Given the description of an element on the screen output the (x, y) to click on. 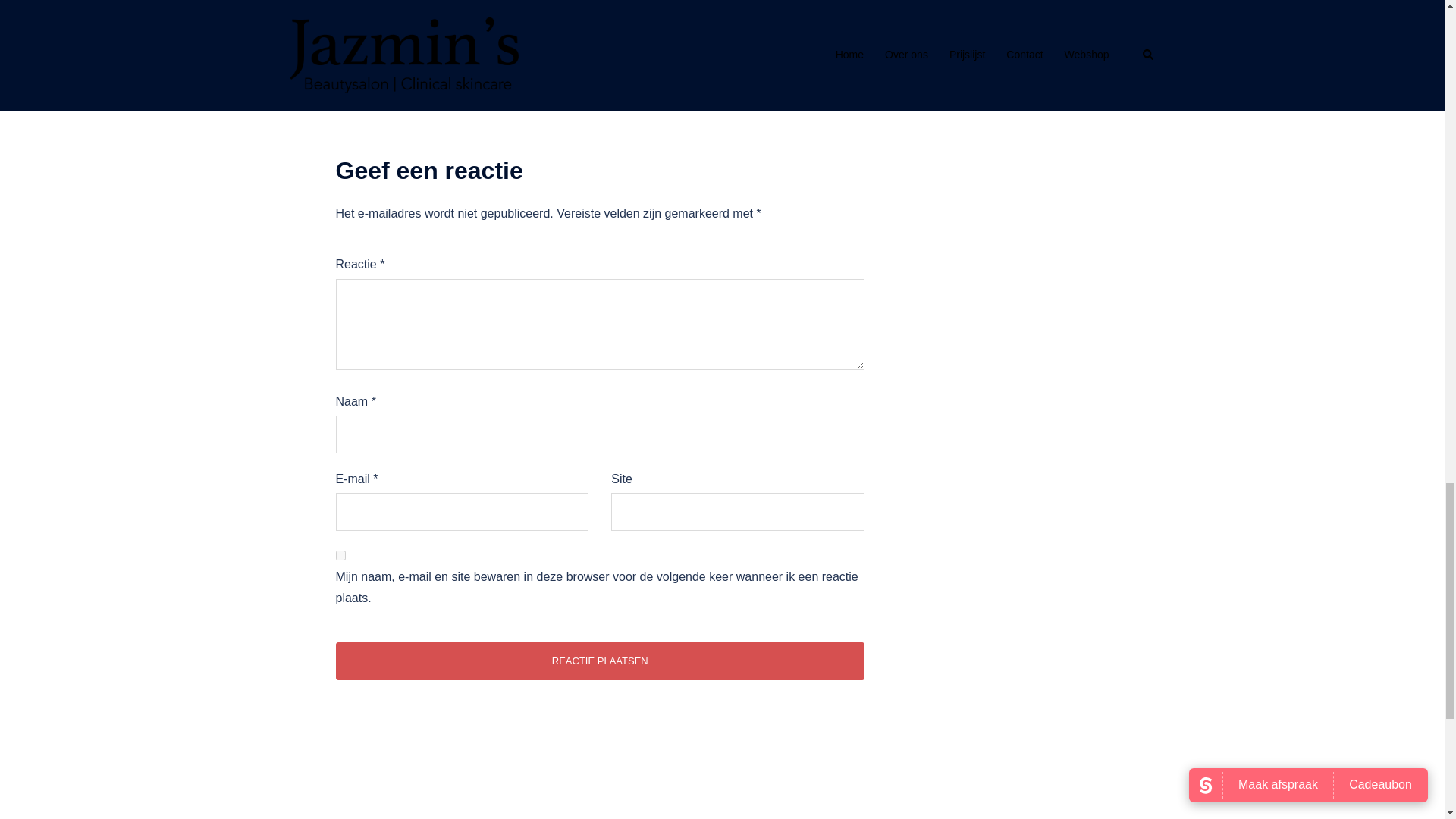
The way to get regarding Cash advance (423, 15)
Reactie plaatsen (599, 661)
Reactie plaatsen (599, 661)
yes (339, 555)
